Given the description of an element on the screen output the (x, y) to click on. 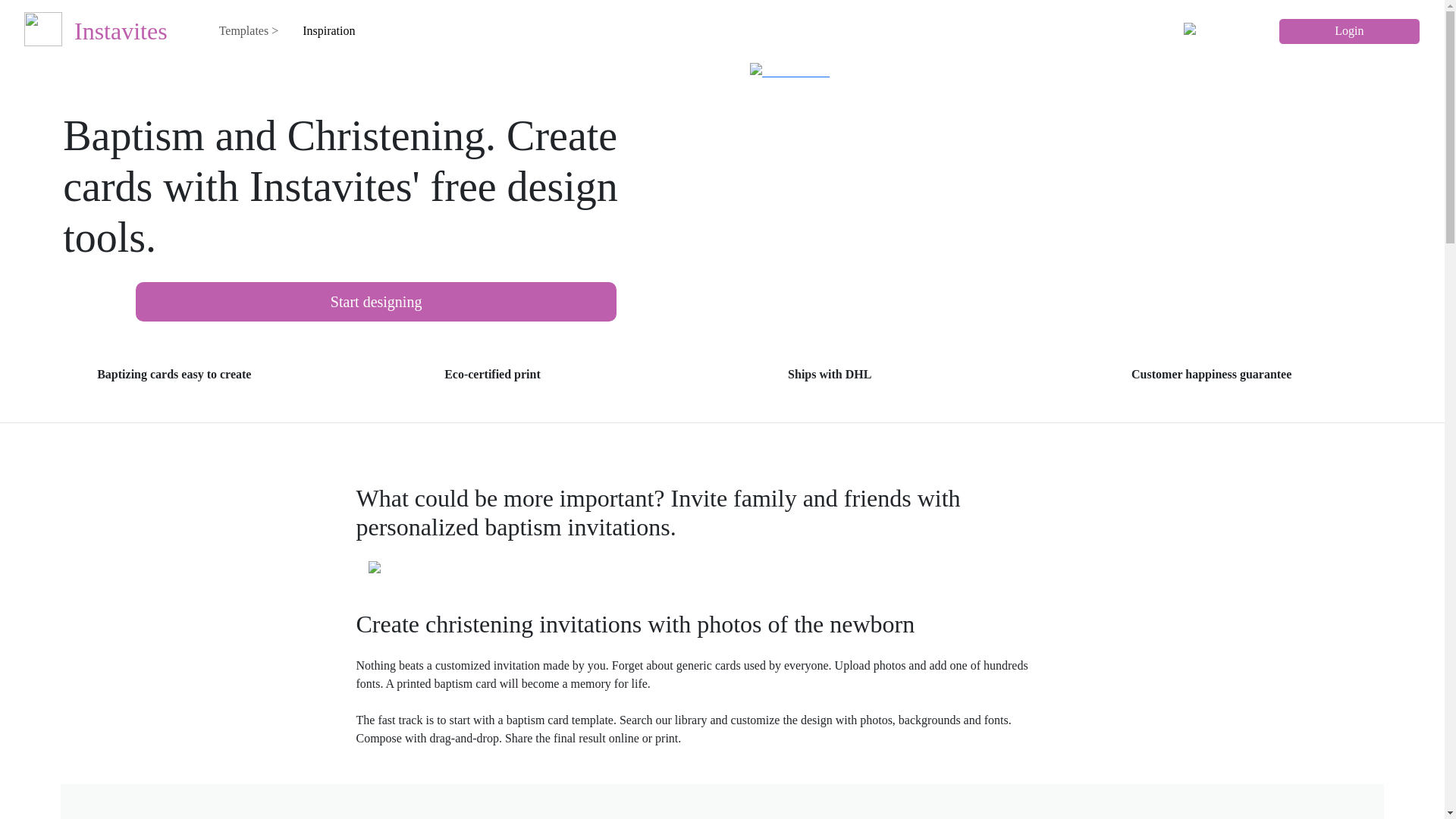
Start designing (375, 302)
Instavites (95, 30)
Login (1349, 31)
Inspiration (328, 30)
Start designing (375, 301)
